Given the description of an element on the screen output the (x, y) to click on. 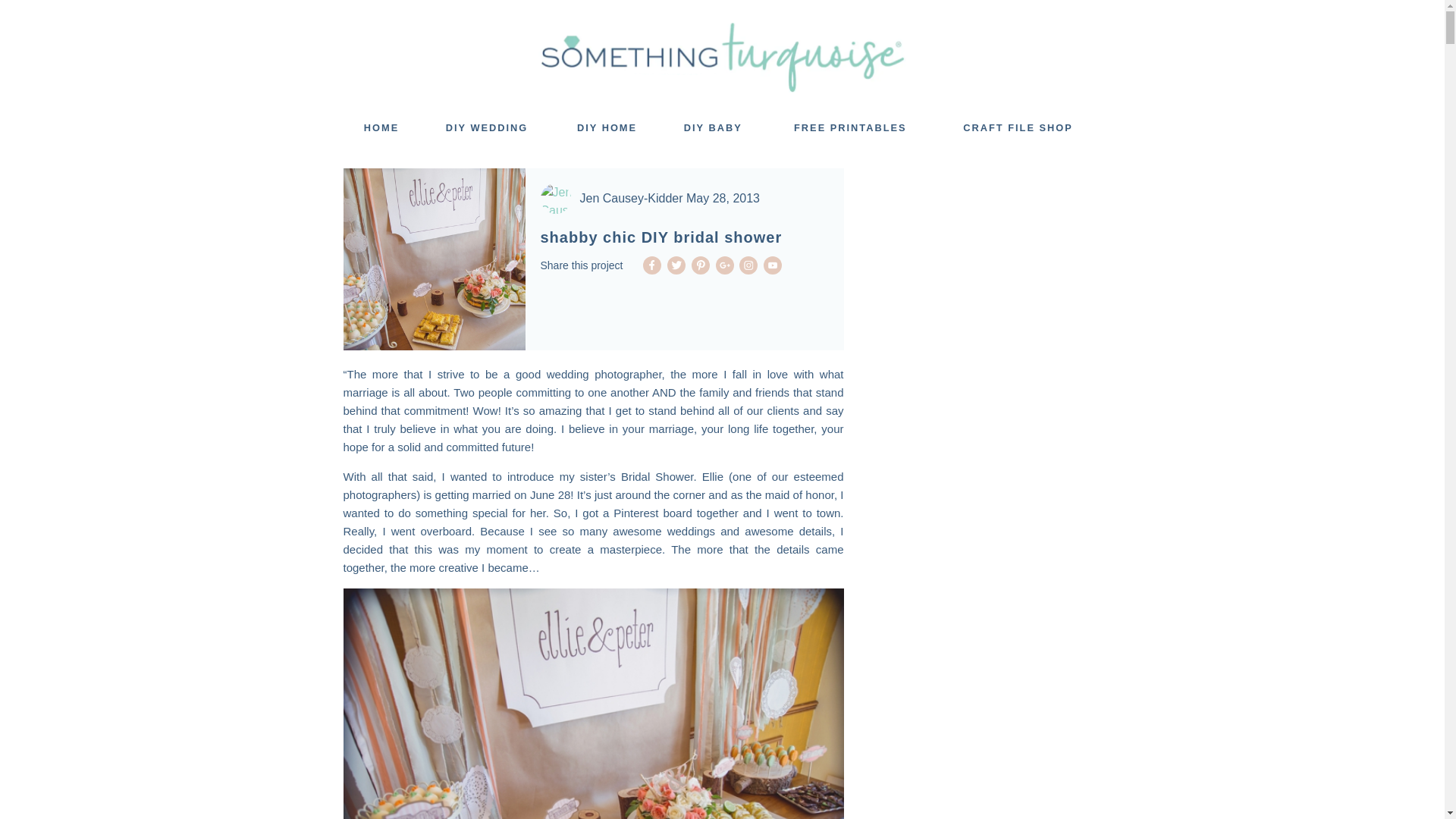
INSTAGRAM (748, 265)
PINTEREST (700, 265)
DIY WEDDING (486, 128)
DIY BABY (713, 128)
CRAFT FILE SHOP (1018, 128)
FACEBOOK (652, 265)
HOME (380, 128)
YOUTUBE (771, 265)
FREE PRINTABLES (849, 128)
Jen Causey-Kidder (630, 197)
DIY HOME (607, 128)
TWITTER (675, 265)
